Given the description of an element on the screen output the (x, y) to click on. 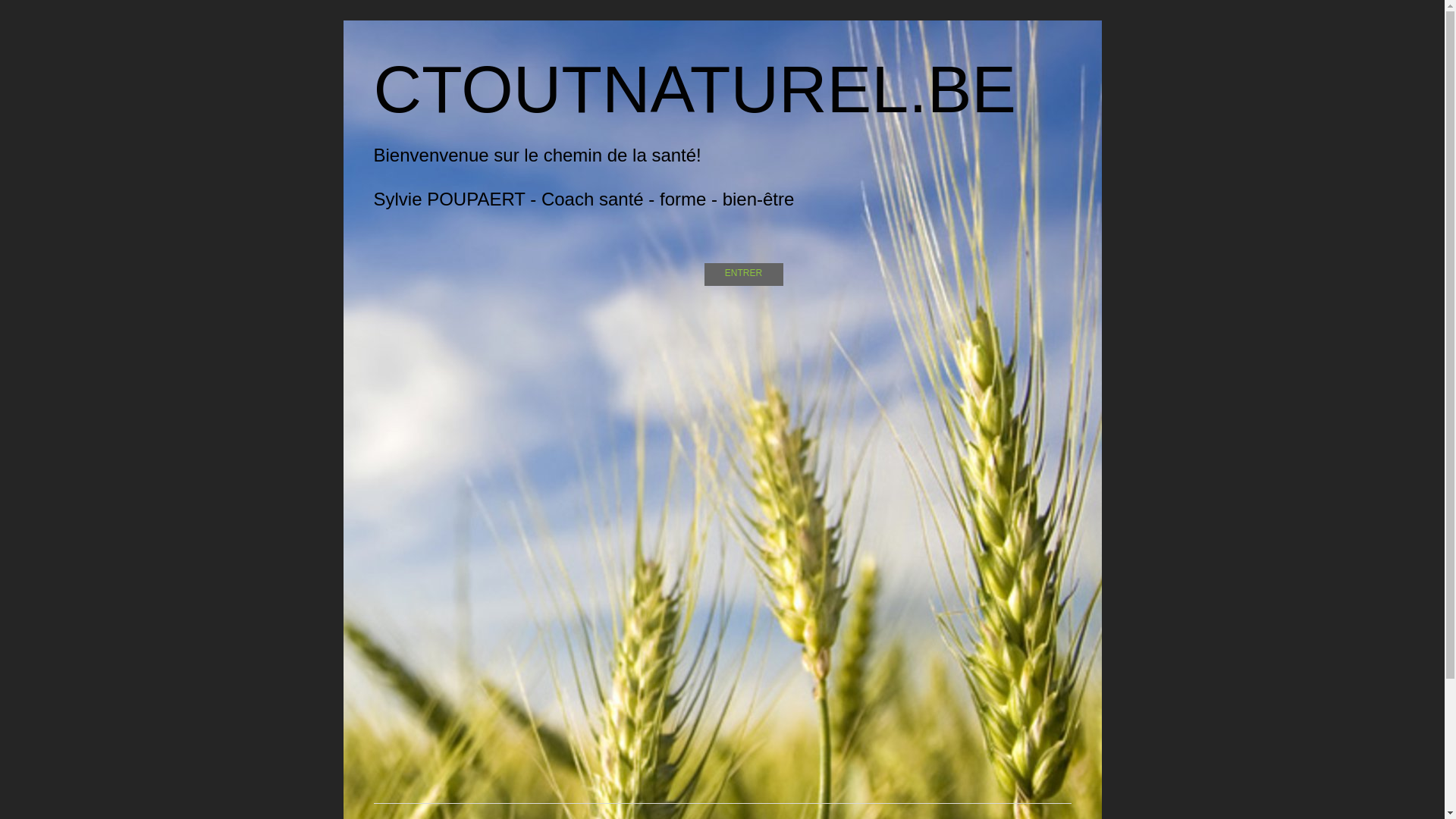
ENTRER Element type: text (743, 272)
